Given the description of an element on the screen output the (x, y) to click on. 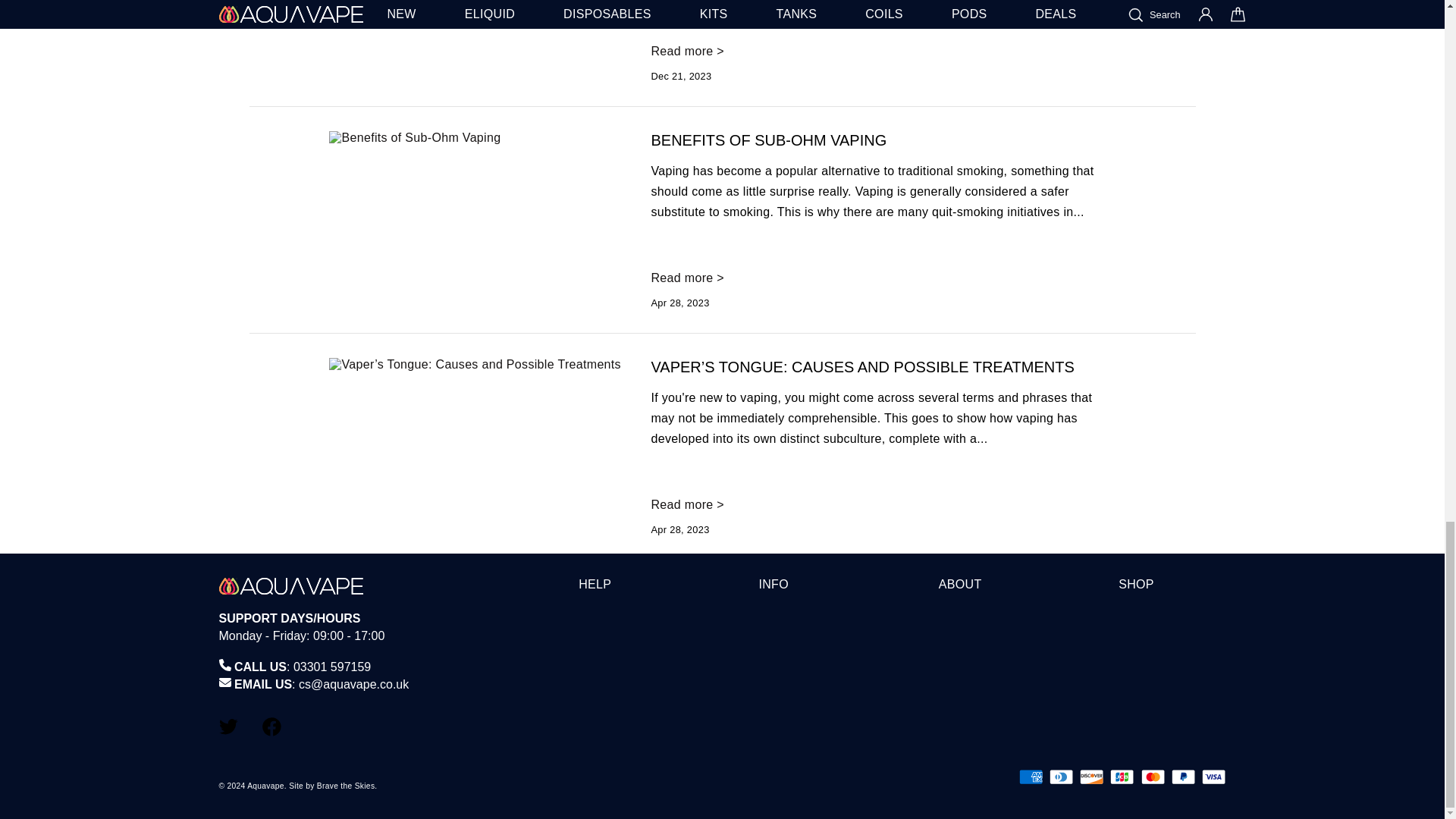
JCB (1121, 776)
tel:03301 597159 (332, 666)
American Express (1030, 776)
Mastercard (1152, 776)
Visa (1213, 776)
Diners Club (1061, 776)
Discover (1091, 776)
PayPal (1183, 776)
